Given the description of an element on the screen output the (x, y) to click on. 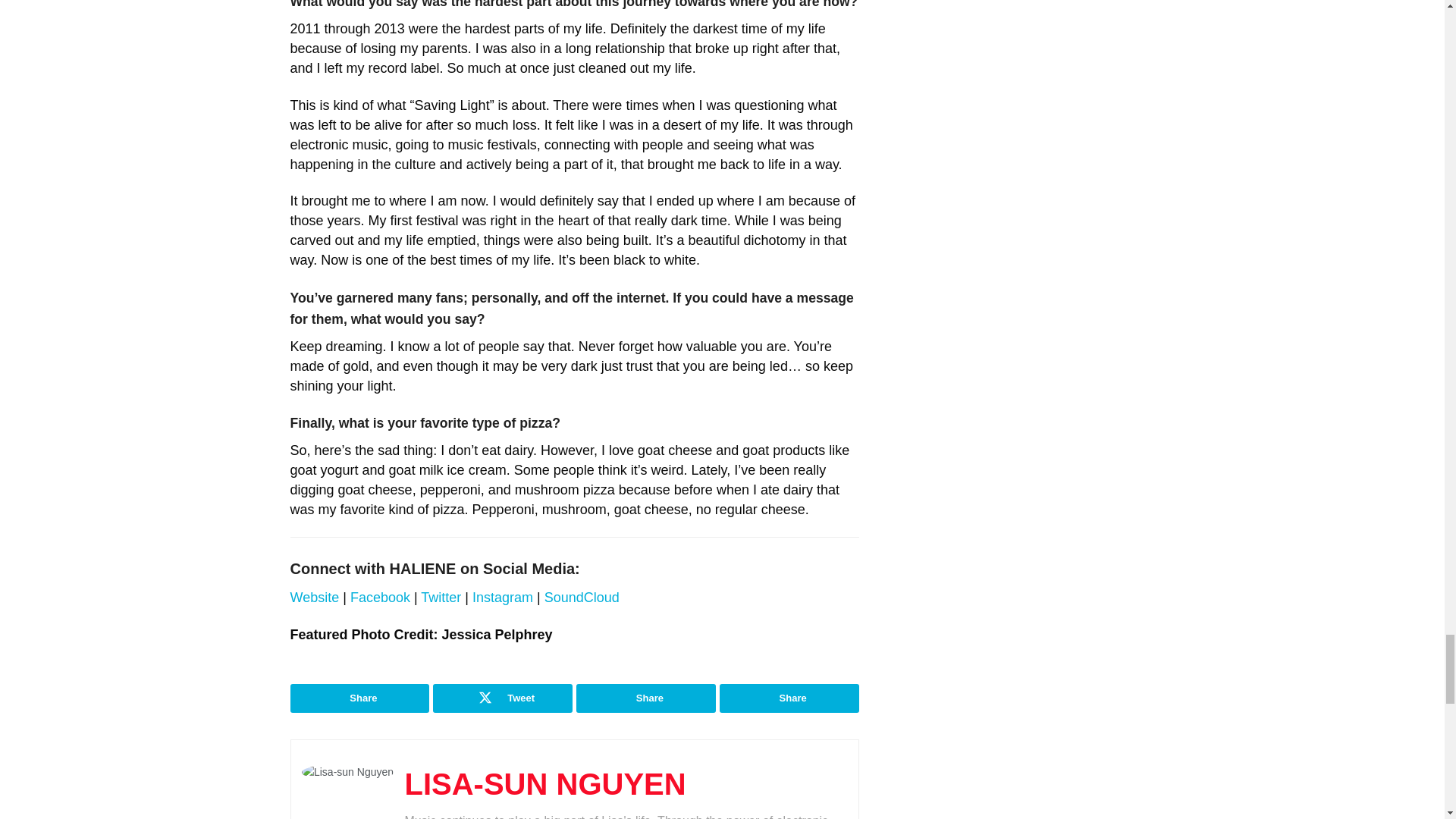
Instagram  (504, 597)
Share (359, 697)
Share (789, 697)
Facebook (380, 597)
Share (646, 697)
SoundCloud (582, 597)
Twitter (440, 597)
Tweet (502, 697)
Website (314, 597)
